Given the description of an element on the screen output the (x, y) to click on. 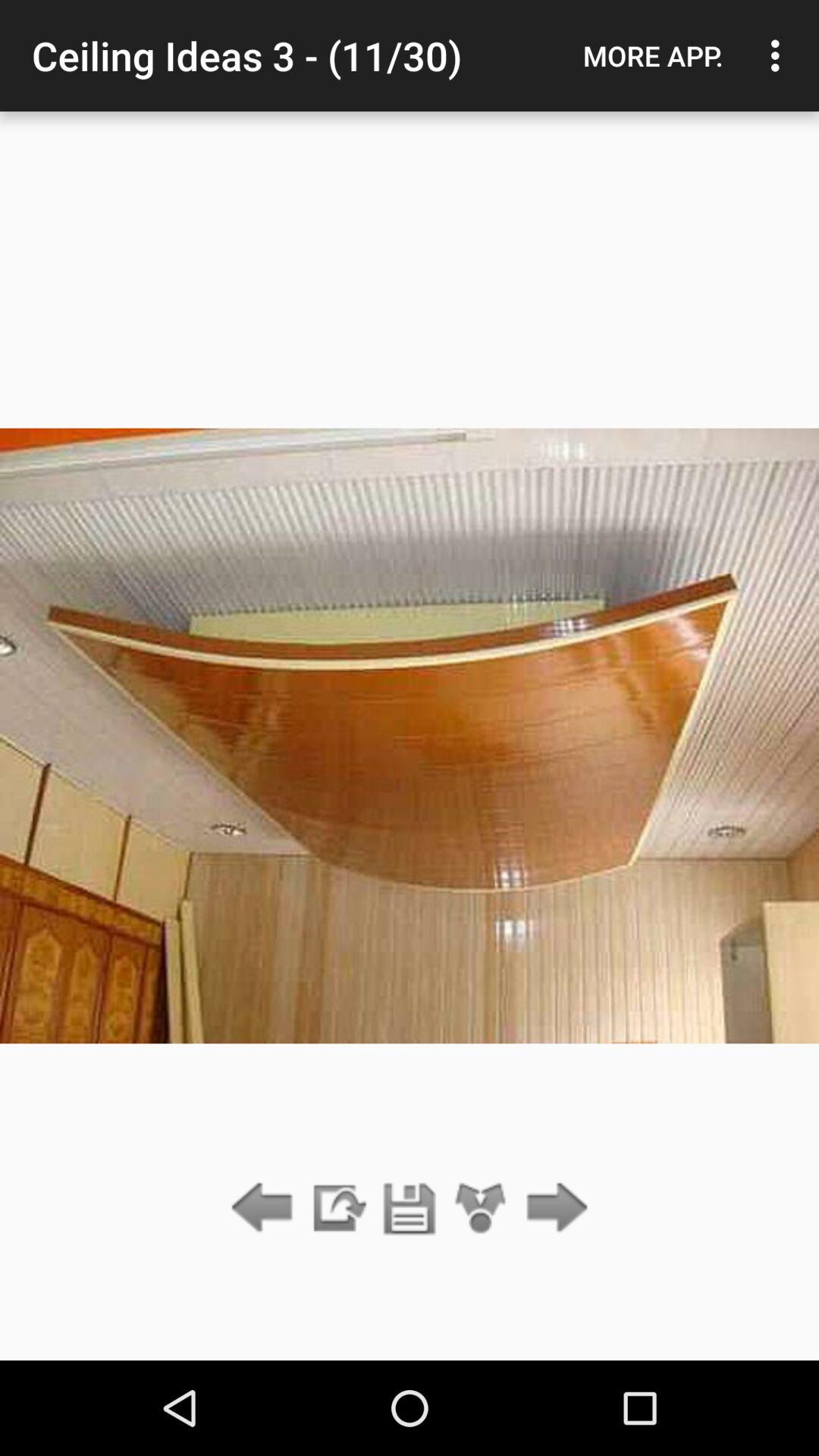
previous image (266, 1209)
